Given the description of an element on the screen output the (x, y) to click on. 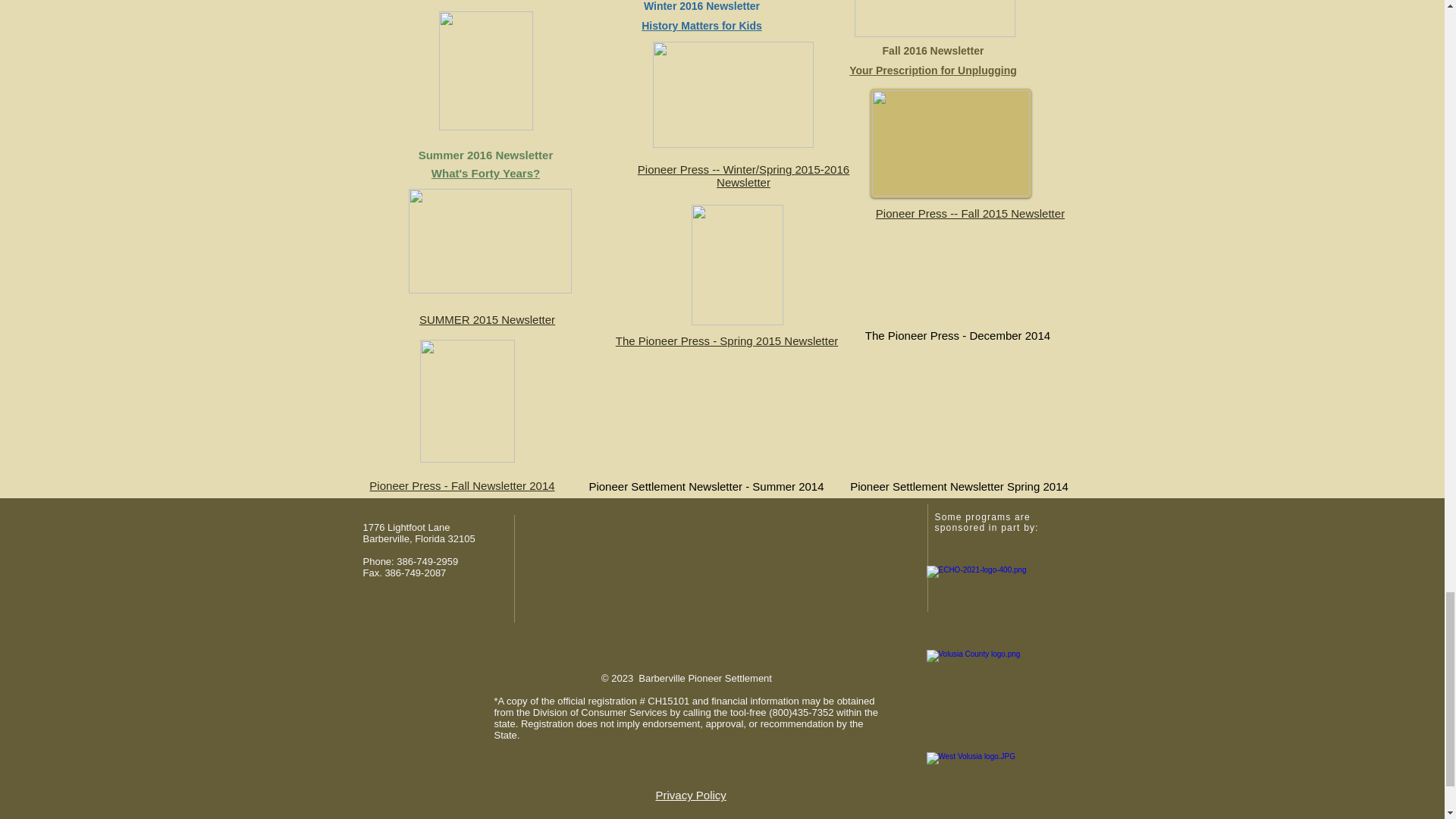
The Pioneer Press - December 2014 (956, 288)
Pioneer Settlement Newsletter Spring 2014 (959, 424)
Pioneer Settlement Newsletter - Summer 2014 (706, 434)
